Given the description of an element on the screen output the (x, y) to click on. 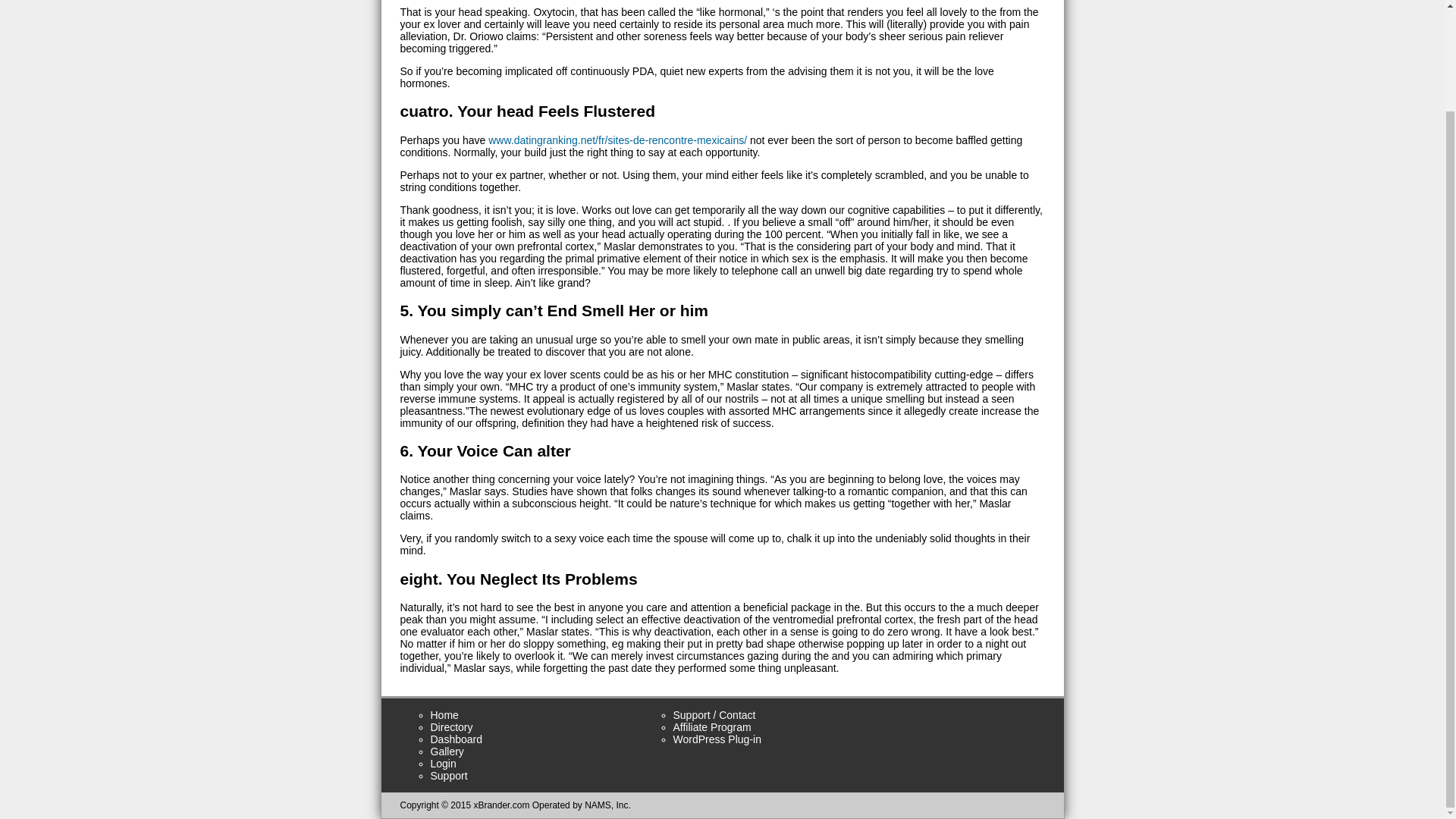
Directory (451, 727)
Affiliate Program (711, 727)
Home (444, 715)
Login (443, 763)
Dashboard (456, 739)
Support (448, 775)
WordPress Plug-in (716, 739)
Gallery (447, 751)
